Given the description of an element on the screen output the (x, y) to click on. 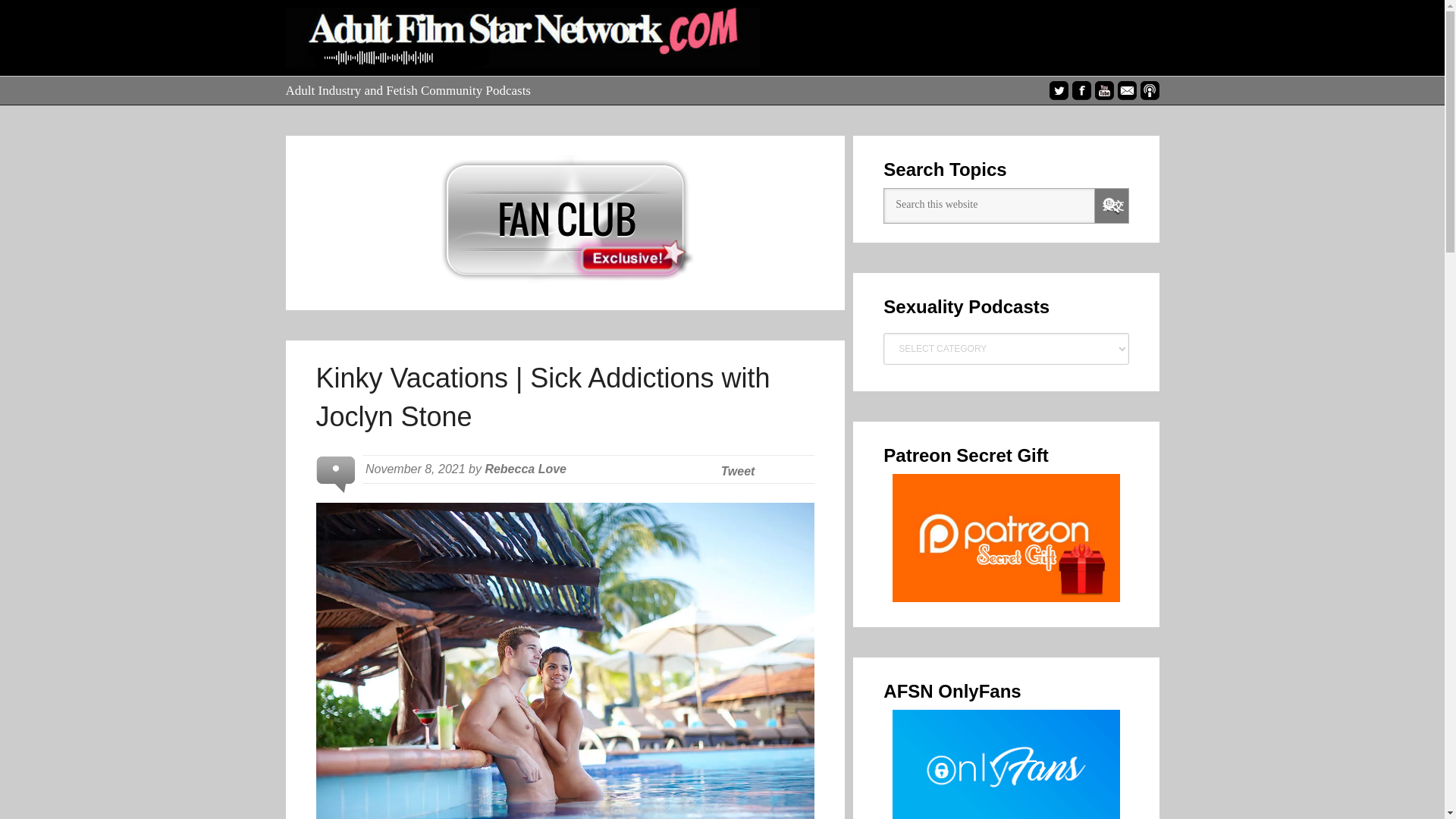
Rebecca Love (525, 468)
Posts by Rebecca Love (525, 468)
Adult Film Star Network (521, 38)
Tweet (737, 471)
